Given the description of an element on the screen output the (x, y) to click on. 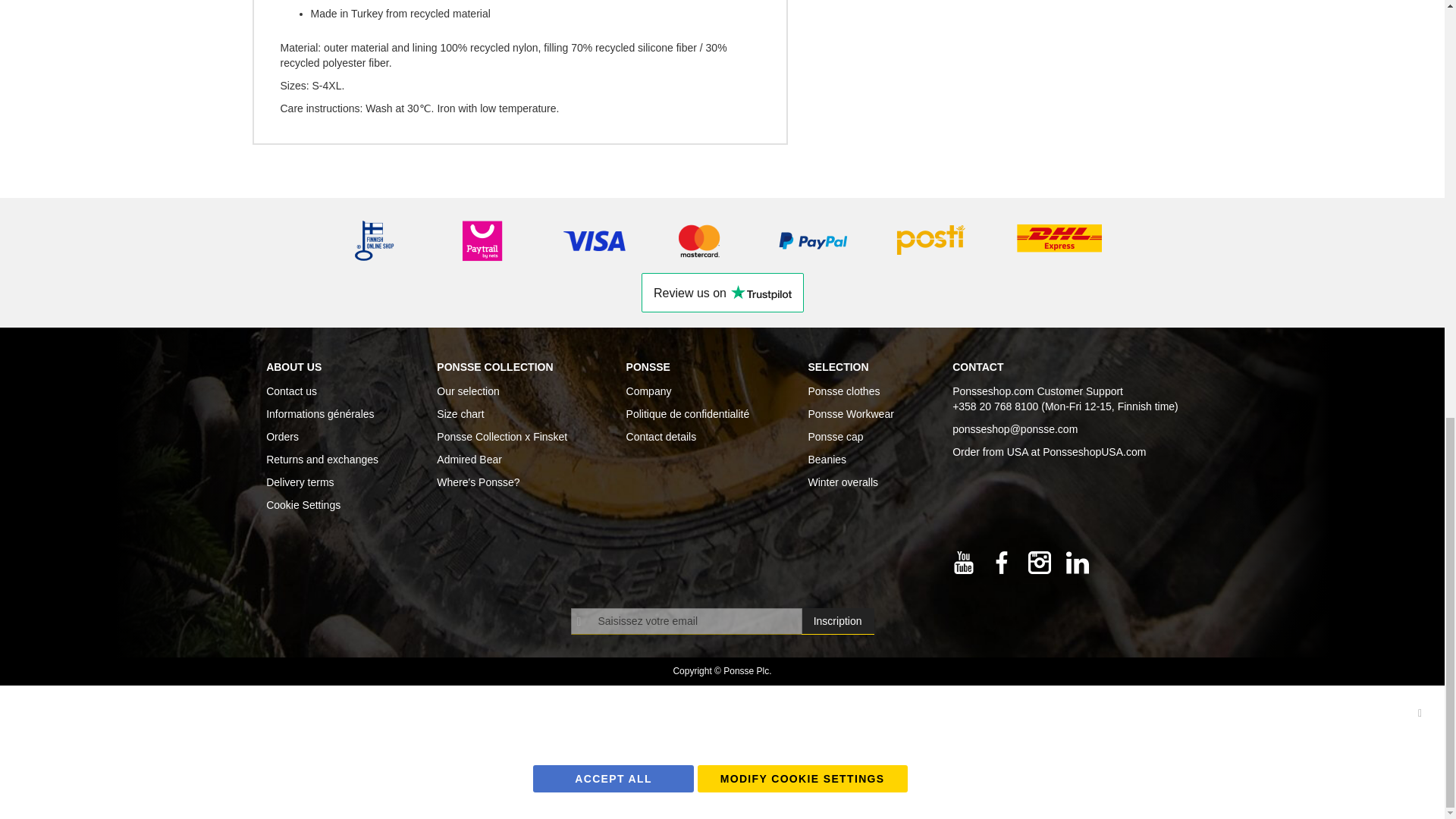
Customer reviews powered by Trustpilot (721, 292)
Inscription (838, 621)
